Given the description of an element on the screen output the (x, y) to click on. 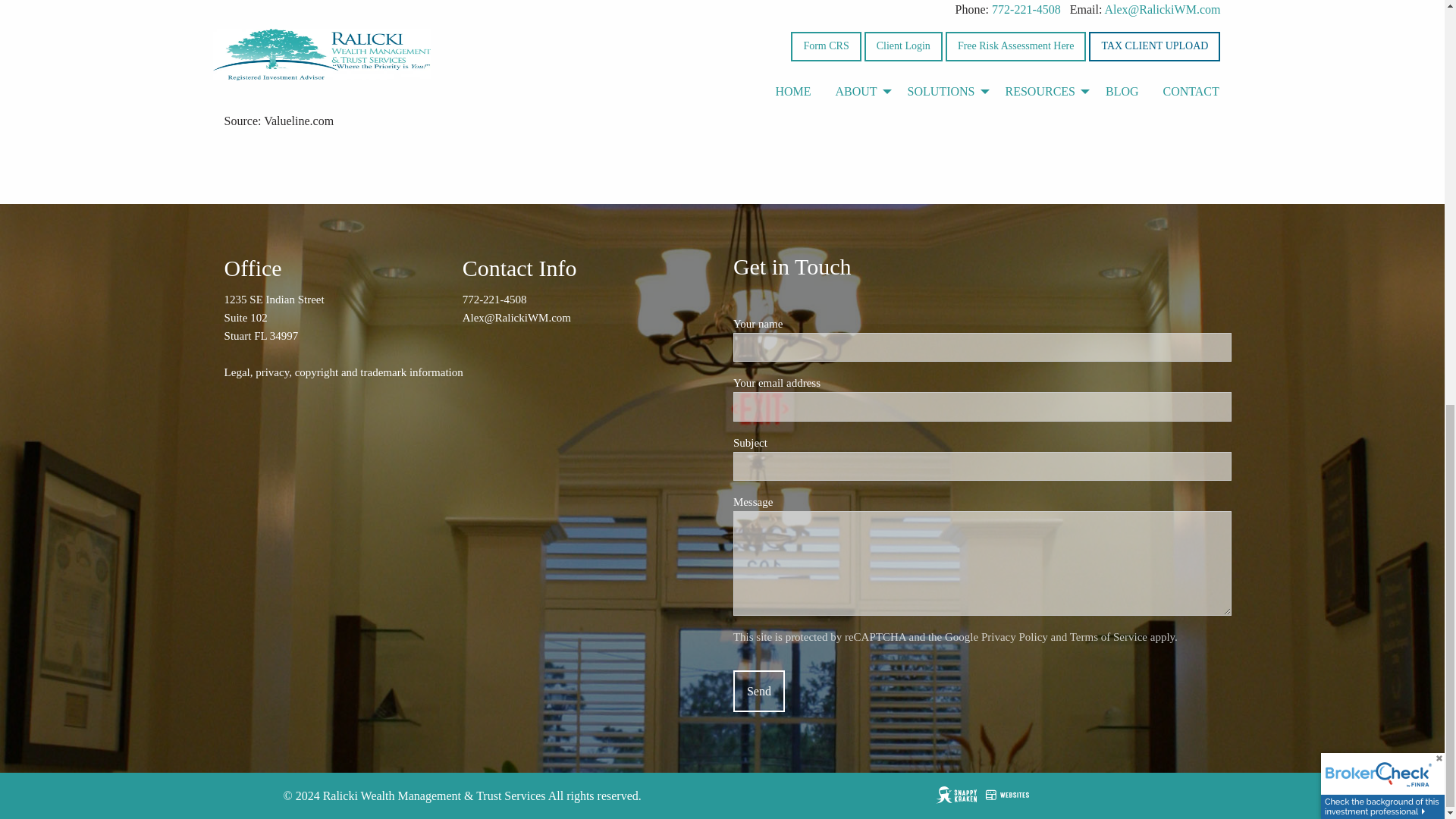
Terms of Service (1108, 636)
Legal, Privacy, Copyright and Trademark Information (343, 372)
Send (758, 690)
Legal, privacy, copyright and trademark information (343, 372)
Privacy Policy (1014, 636)
Send (758, 690)
